Given the description of an element on the screen output the (x, y) to click on. 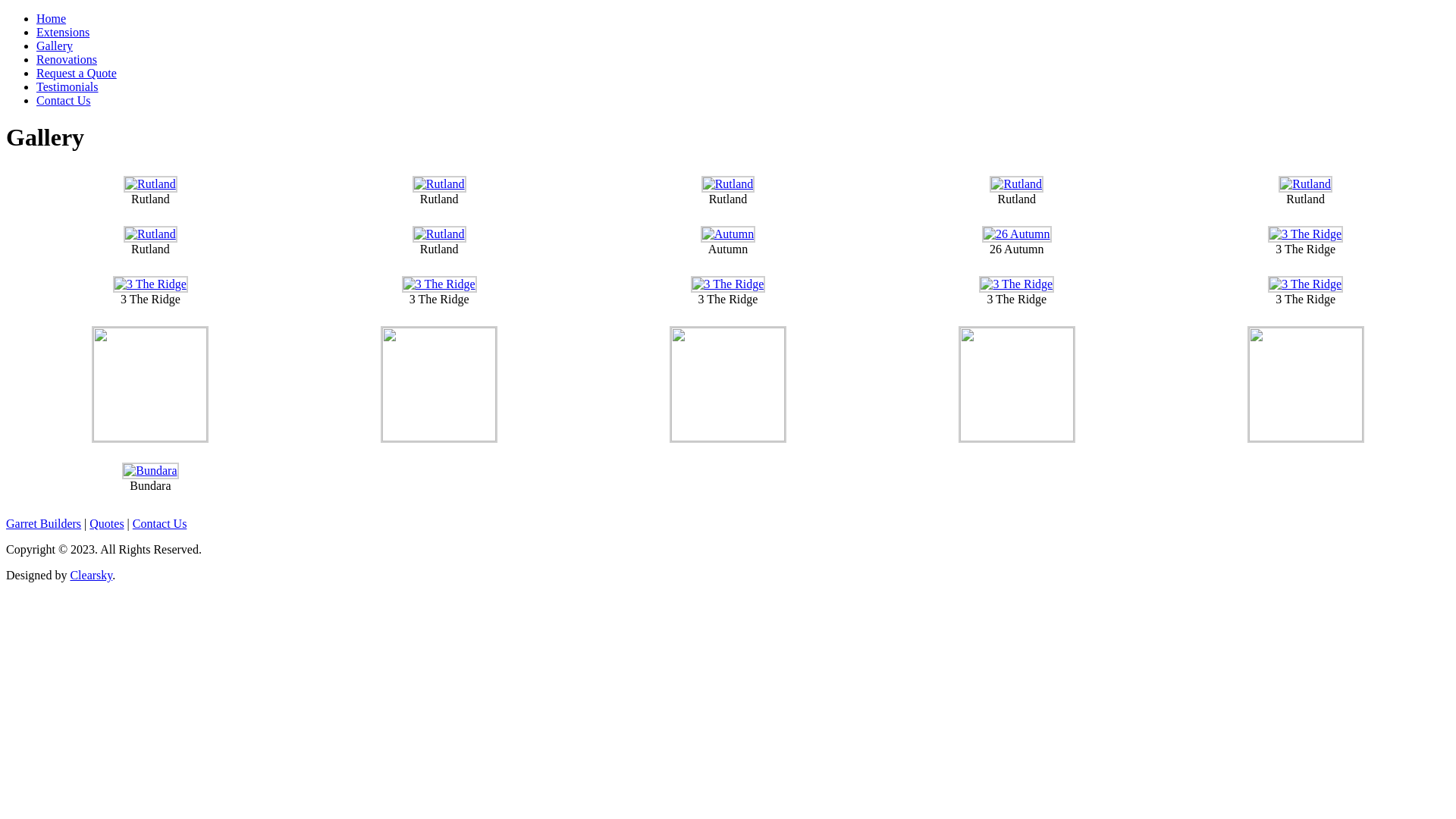
Bundara  Element type: hover (150, 470)
Garret Builders Element type: text (43, 523)
Rutland Element type: hover (439, 233)
3 The Ridge Element type: hover (1305, 233)
Rutland Element type: hover (150, 233)
Rutland Element type: hover (728, 183)
3 The Ridge Element type: hover (438, 283)
Request a Quote Element type: text (76, 72)
3 The Ridge Element type: hover (727, 283)
Rutland Element type: hover (1305, 183)
Quotes Element type: text (106, 523)
Rutland Element type: hover (439, 183)
Rutland Element type: hover (150, 183)
Contact Us Element type: text (159, 523)
Contact Us Element type: text (63, 100)
Renovations Element type: text (66, 59)
Extensions Element type: text (62, 31)
Clearsky Element type: text (90, 574)
26 Autumn Element type: hover (1016, 233)
3 The Ridge Element type: hover (1016, 283)
Rutland Element type: hover (1016, 183)
Autumn  Element type: hover (727, 233)
3 The Ridge Element type: hover (150, 283)
3 The Ridge Element type: hover (1305, 283)
Gallery Element type: text (54, 45)
Home Element type: text (50, 18)
Testimonials Element type: text (67, 86)
